Given the description of an element on the screen output the (x, y) to click on. 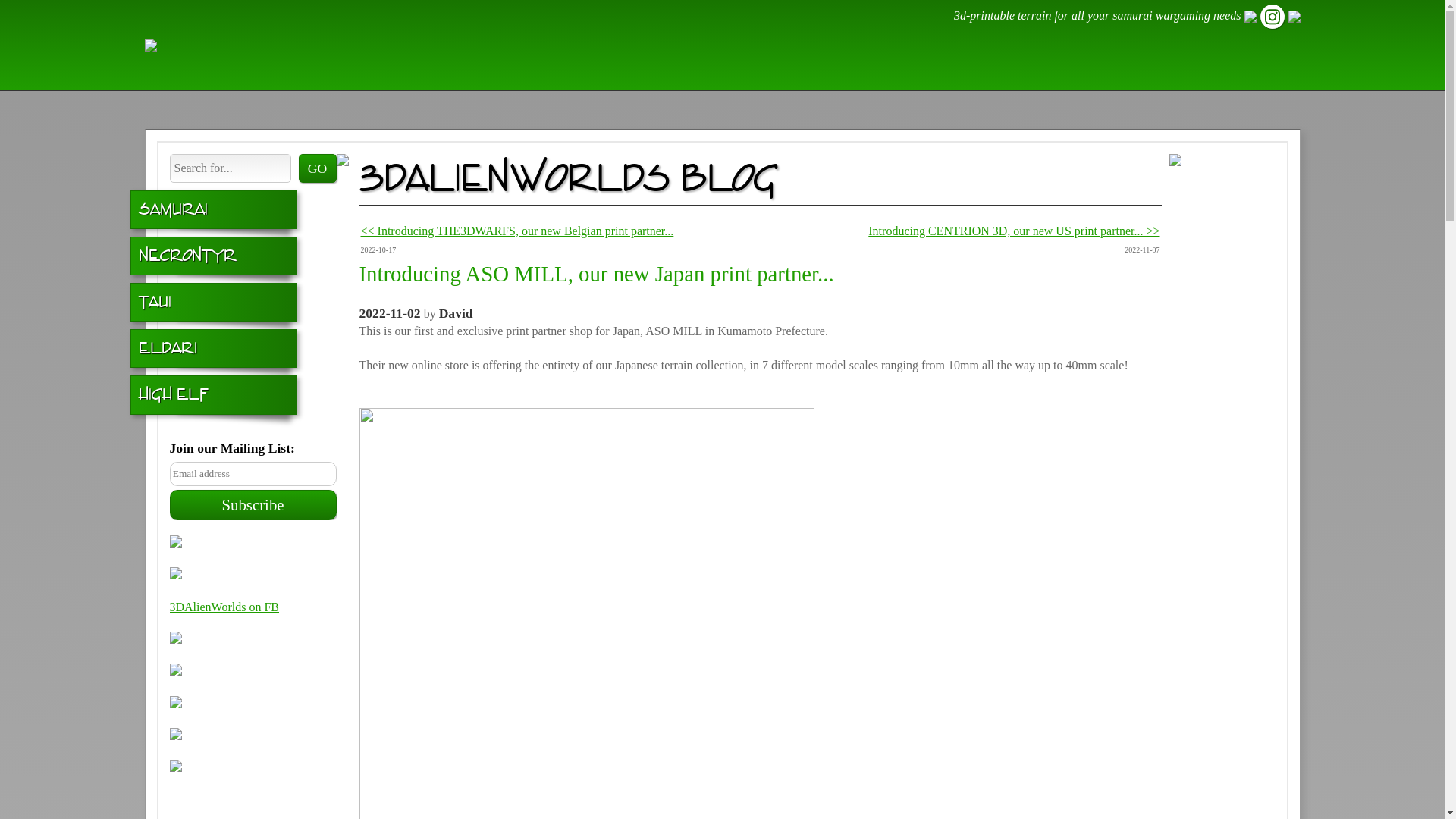
Subscribe Element type: text (252, 504)
Necrontyr Element type: text (213, 255)
High Elf Element type: text (213, 394)
Buy it Printed! Element type: hover (252, 575)
Samurai Element type: text (213, 209)
Taui Element type: text (213, 301)
Facebook Element type: hover (252, 543)
Reviews Element type: text (1107, 130)
Help Element type: text (1267, 130)
Blog Element type: text (1195, 123)
We also accept Paypal Element type: hover (252, 704)
Gallery Element type: text (1004, 130)
Eldari Element type: text (213, 348)
Introducing CENTRION 3D, our new US print partner... >> Element type: text (1013, 230)
Fantasy Element type: text (906, 130)
GO Element type: text (317, 167)
<< Introducing THE3DWARFS, our new Belgian print partner... Element type: text (517, 230)
Instagram Element type: hover (252, 639)
TableTop Fix : Daily product news from the wargaming world Element type: hover (252, 776)
SSL Secure Transactions Element type: hover (252, 671)
3DAlienWorlds on FB Element type: text (224, 606)
Sci-Fi Element type: text (828, 130)
Retailer Partners Wanted Element type: hover (252, 736)
